Given the description of an element on the screen output the (x, y) to click on. 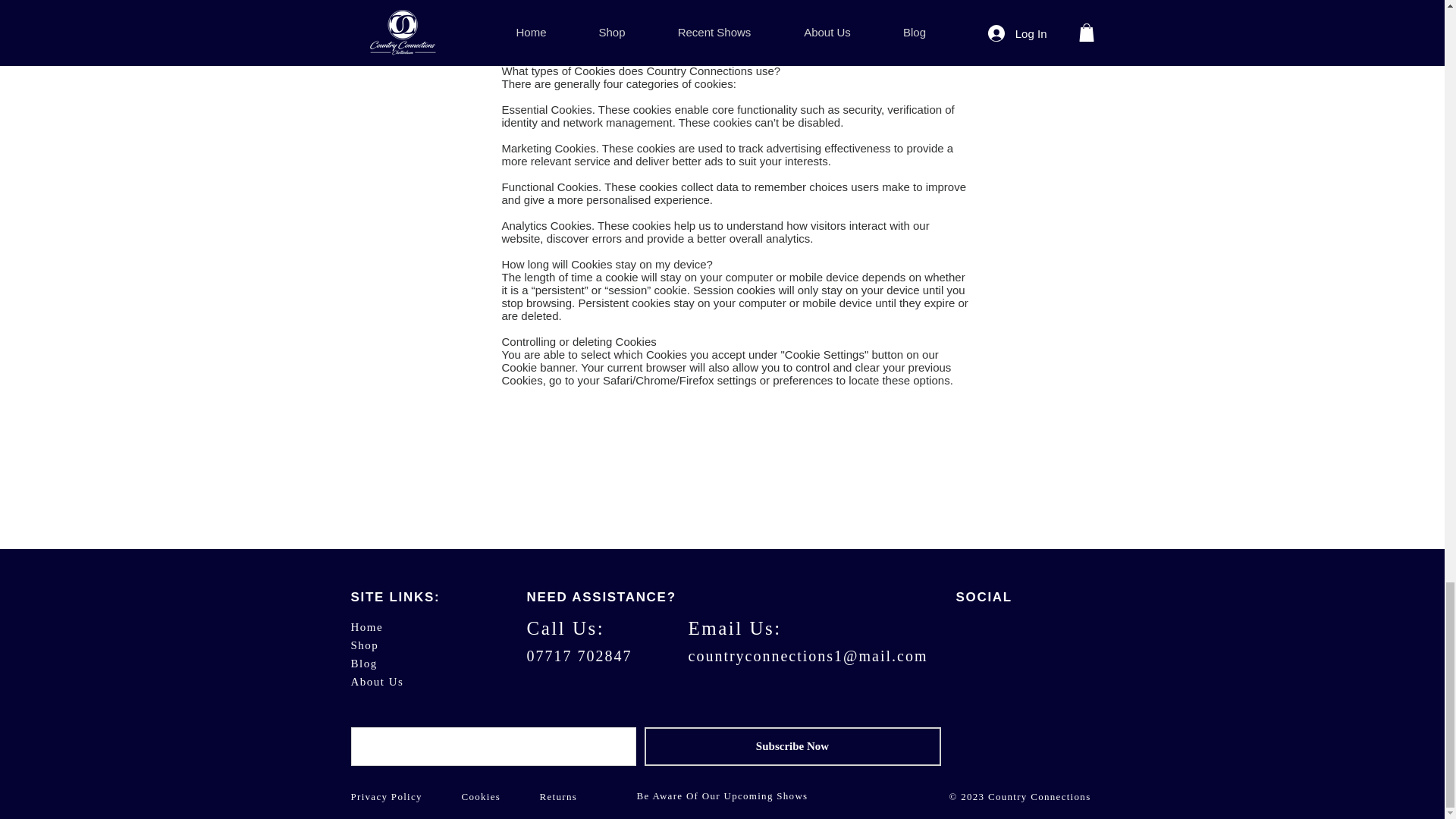
Subscribe Now (792, 746)
Blog (363, 662)
About Us (376, 680)
Returns (559, 796)
Cookies (480, 796)
Privacy Policy (386, 796)
Shop (364, 644)
Home (366, 626)
Be Aware Of Our Upcoming Shows (722, 795)
07717 702847 (578, 655)
